Given the description of an element on the screen output the (x, y) to click on. 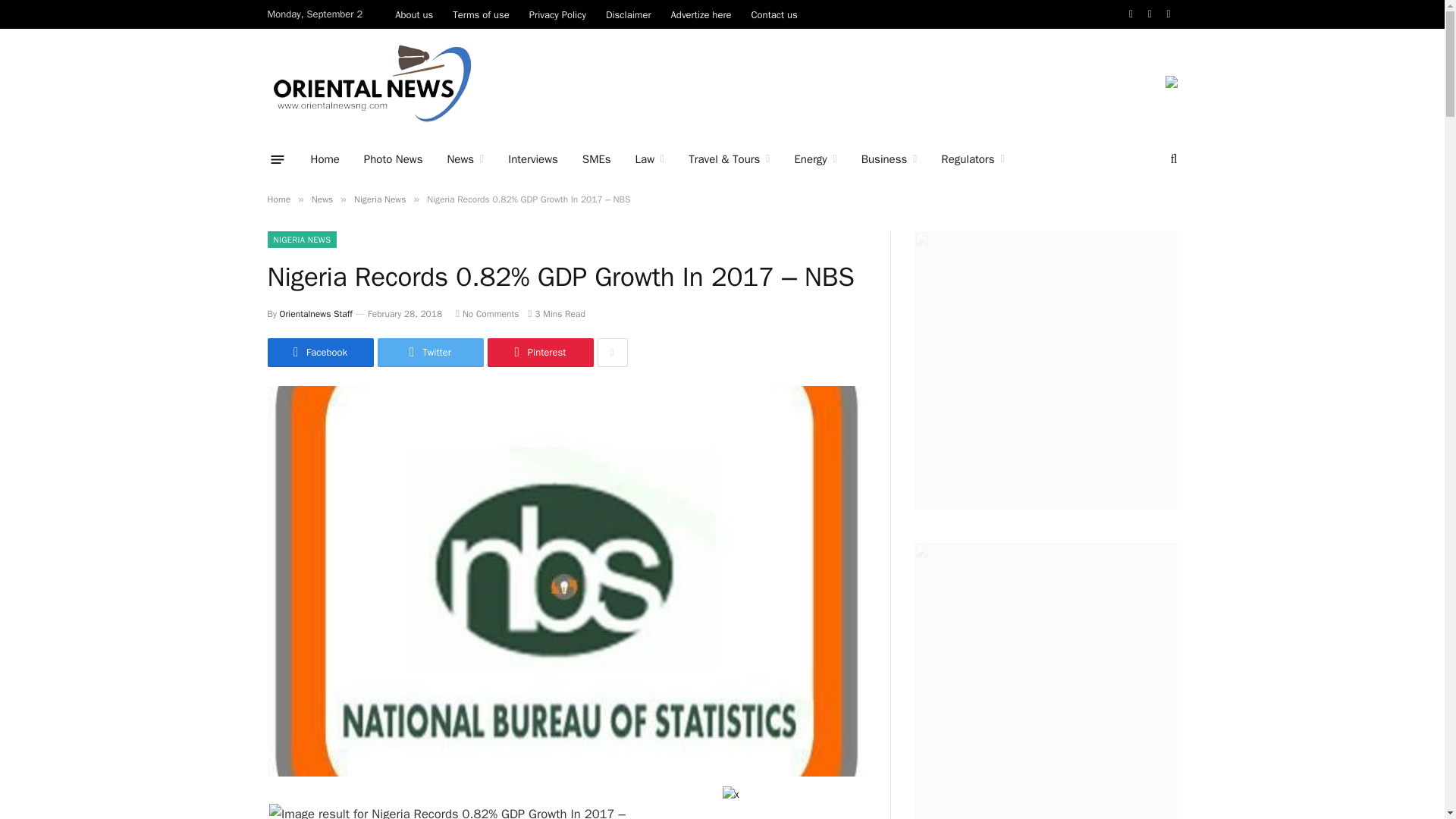
Share on Facebook (319, 352)
Posts by Orientalnews Staff (315, 313)
Show More Social Sharing (611, 352)
Share on Pinterest (539, 352)
Oriental News Nigeria (371, 83)
